Given the description of an element on the screen output the (x, y) to click on. 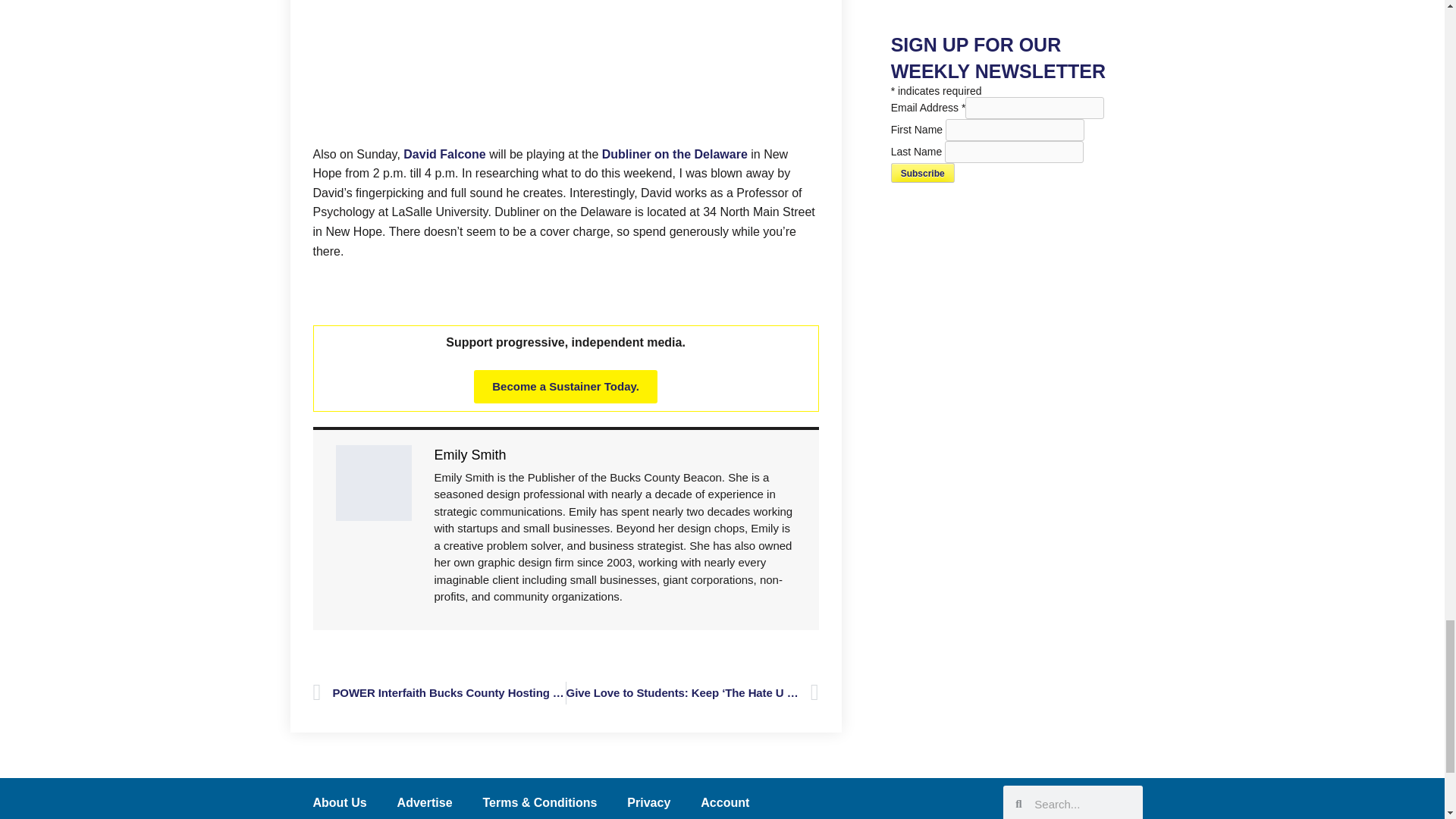
David Falcone (565, 69)
Subscribe (923, 172)
